Given the description of an element on the screen output the (x, y) to click on. 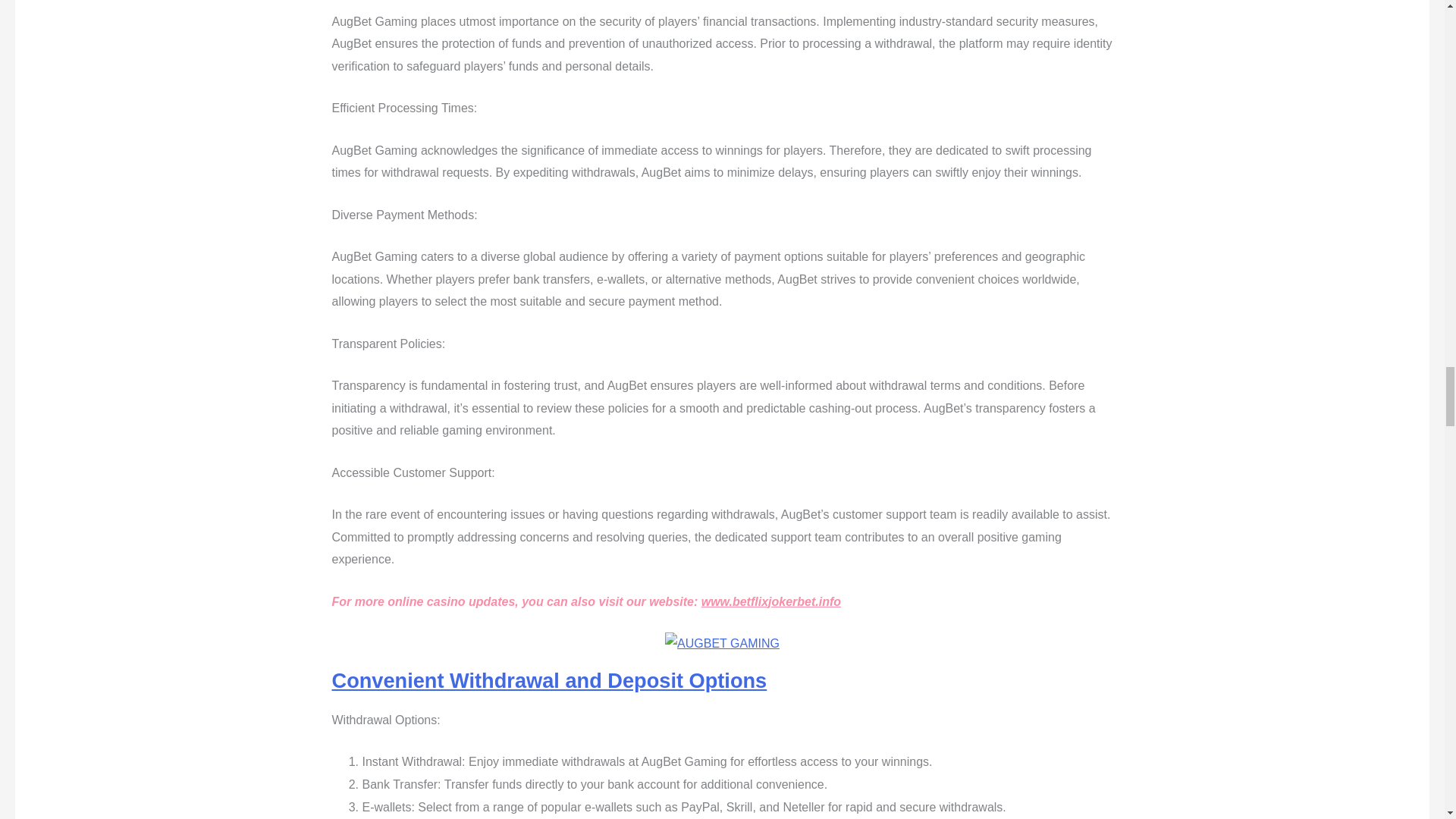
www.betflixjokerbet.info (771, 601)
Convenient Withdrawal and Deposit Options (549, 680)
